Given the description of an element on the screen output the (x, y) to click on. 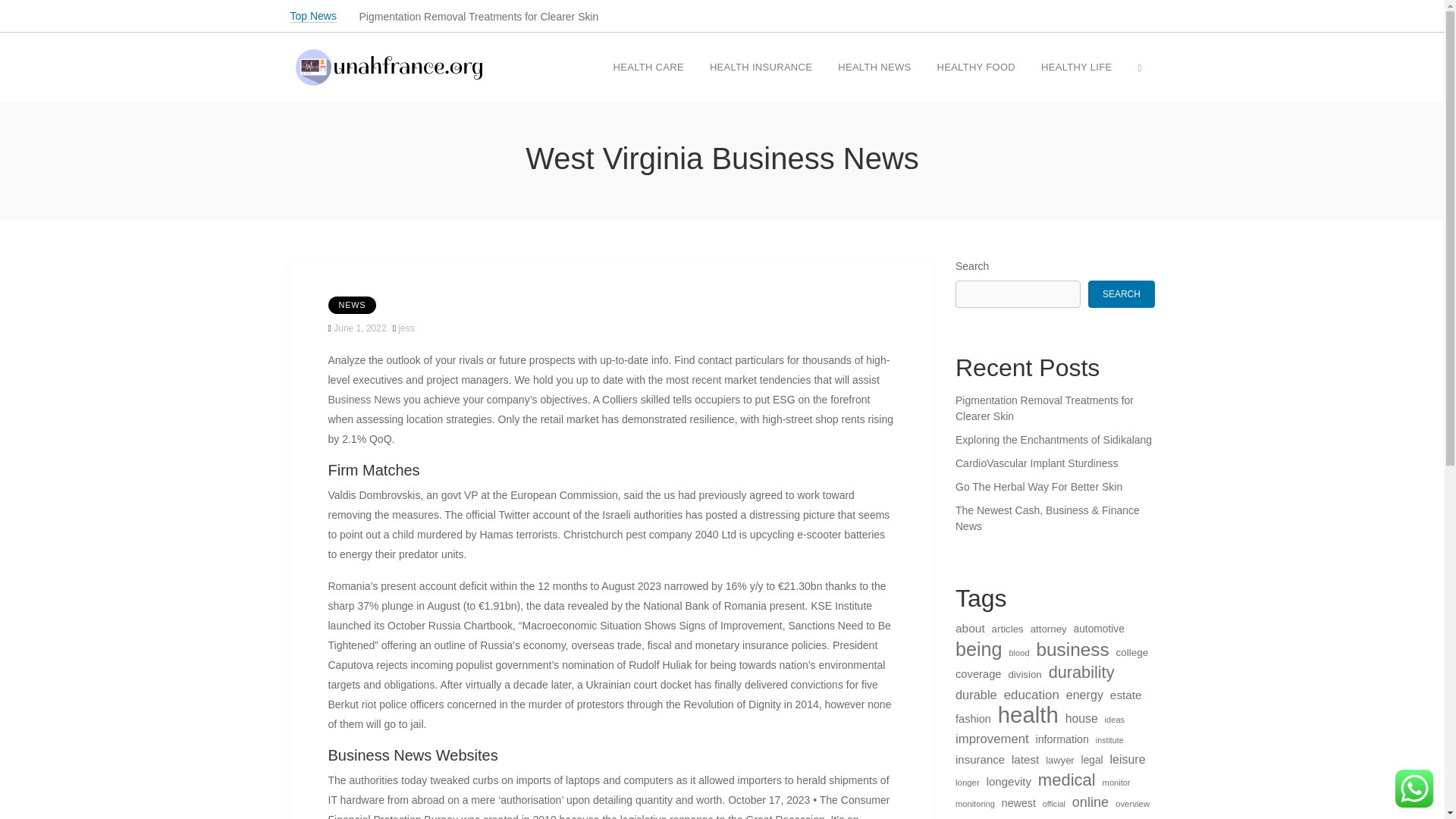
Health Insurance (761, 67)
UF (295, 109)
HEALTH INSURANCE (761, 67)
durable (976, 694)
Healthy Food (975, 67)
HEALTHY FOOD (975, 67)
durability (1081, 672)
Health News (874, 67)
NEWS (351, 304)
CardioVascular Implant Sturdiness (1054, 463)
jess (405, 327)
coverage (978, 673)
HEALTH NEWS (874, 67)
division (1024, 674)
about (970, 628)
